Given the description of an element on the screen output the (x, y) to click on. 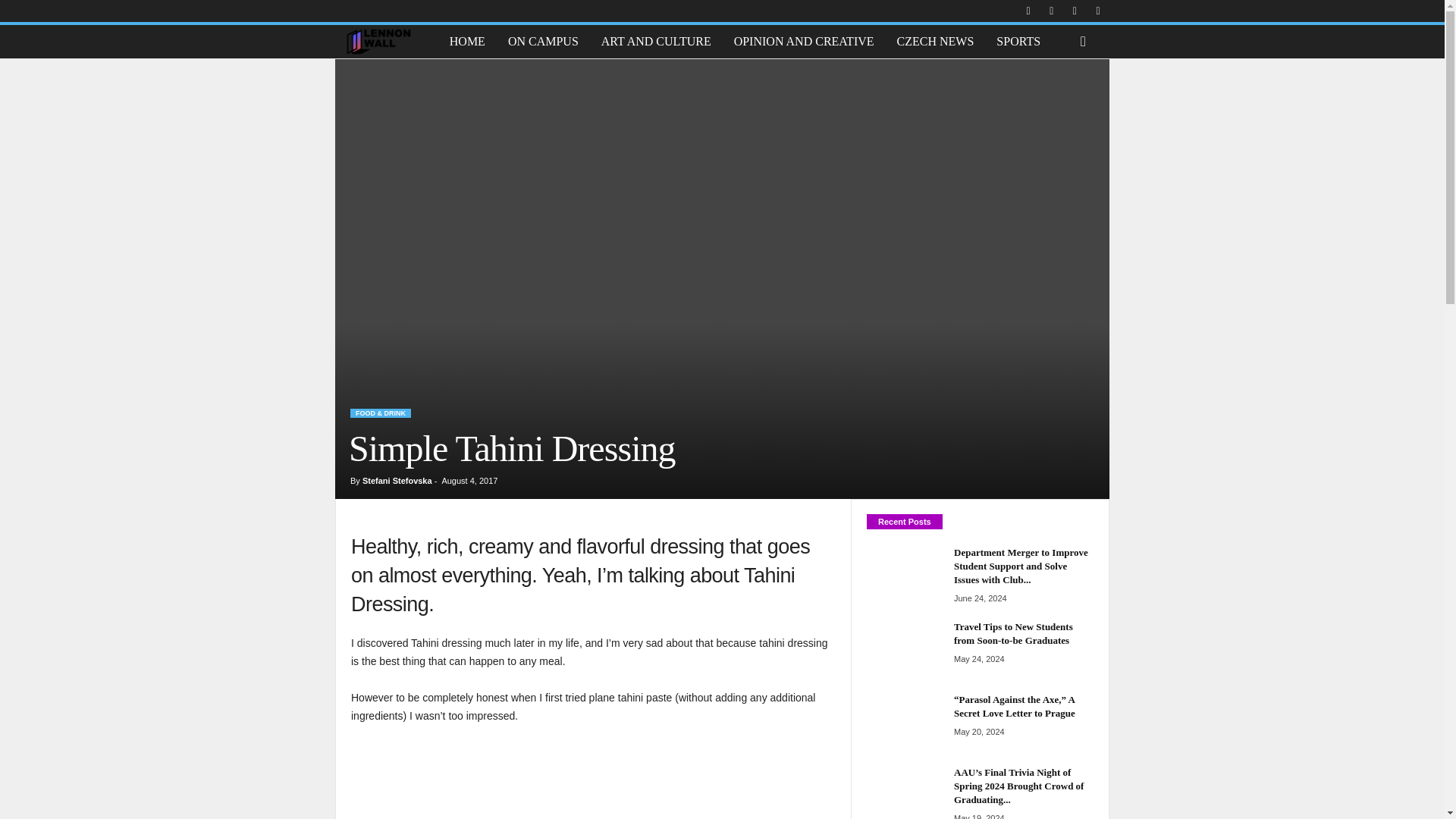
ART AND CULTURE (655, 41)
OPINION AND CREATIVE (803, 41)
Anglo-American University Student Magazine (378, 41)
HOME (467, 41)
Lennon Wall (386, 41)
Travel Tips to New Students from Soon-to-be Graduates (904, 648)
ON CAMPUS (542, 41)
